Given the description of an element on the screen output the (x, y) to click on. 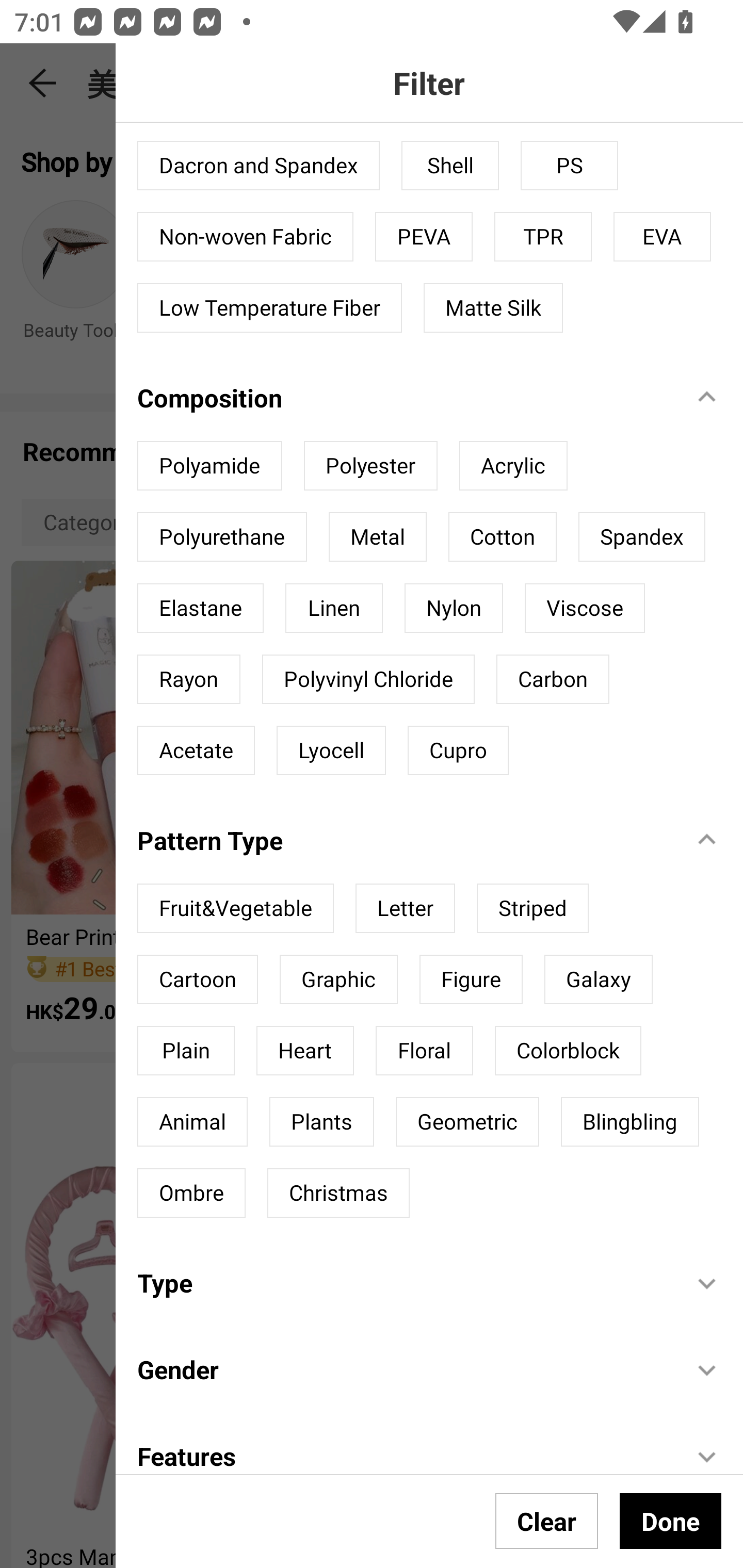
Dacron and Spandex (258, 165)
Shell (450, 165)
PS (569, 165)
Non-woven Fabric (245, 236)
PEVA (423, 236)
TPR (543, 236)
EVA (662, 236)
Low Temperature Fiber (269, 307)
Matte Silk (493, 307)
Composition (403, 397)
Polyamide (209, 465)
Polyester (370, 465)
Acrylic (513, 465)
Polyurethane (221, 536)
Metal (377, 536)
Cotton (502, 536)
Spandex (641, 536)
Elastane (200, 608)
Linen (333, 608)
Nylon (453, 608)
Viscose (584, 608)
Rayon (188, 678)
Polyvinyl Chloride (368, 678)
Carbon (552, 678)
Acetate (195, 749)
Lyocell (330, 749)
Cupro (457, 749)
Pattern Type (403, 840)
Fruit&Vegetable (235, 907)
Letter (404, 907)
Striped (532, 907)
Cartoon (197, 978)
Graphic (338, 978)
Figure (470, 978)
Galaxy (598, 978)
Plain (185, 1050)
Heart (304, 1050)
Floral (424, 1050)
Colorblock (567, 1050)
Animal (192, 1121)
Plants (320, 1121)
Geometric (467, 1121)
Blingbling (629, 1121)
Ombre (191, 1193)
Christmas (338, 1193)
Type (403, 1282)
Gender (403, 1369)
Features (403, 1453)
Clear (546, 1520)
Done (670, 1520)
